Given the description of an element on the screen output the (x, y) to click on. 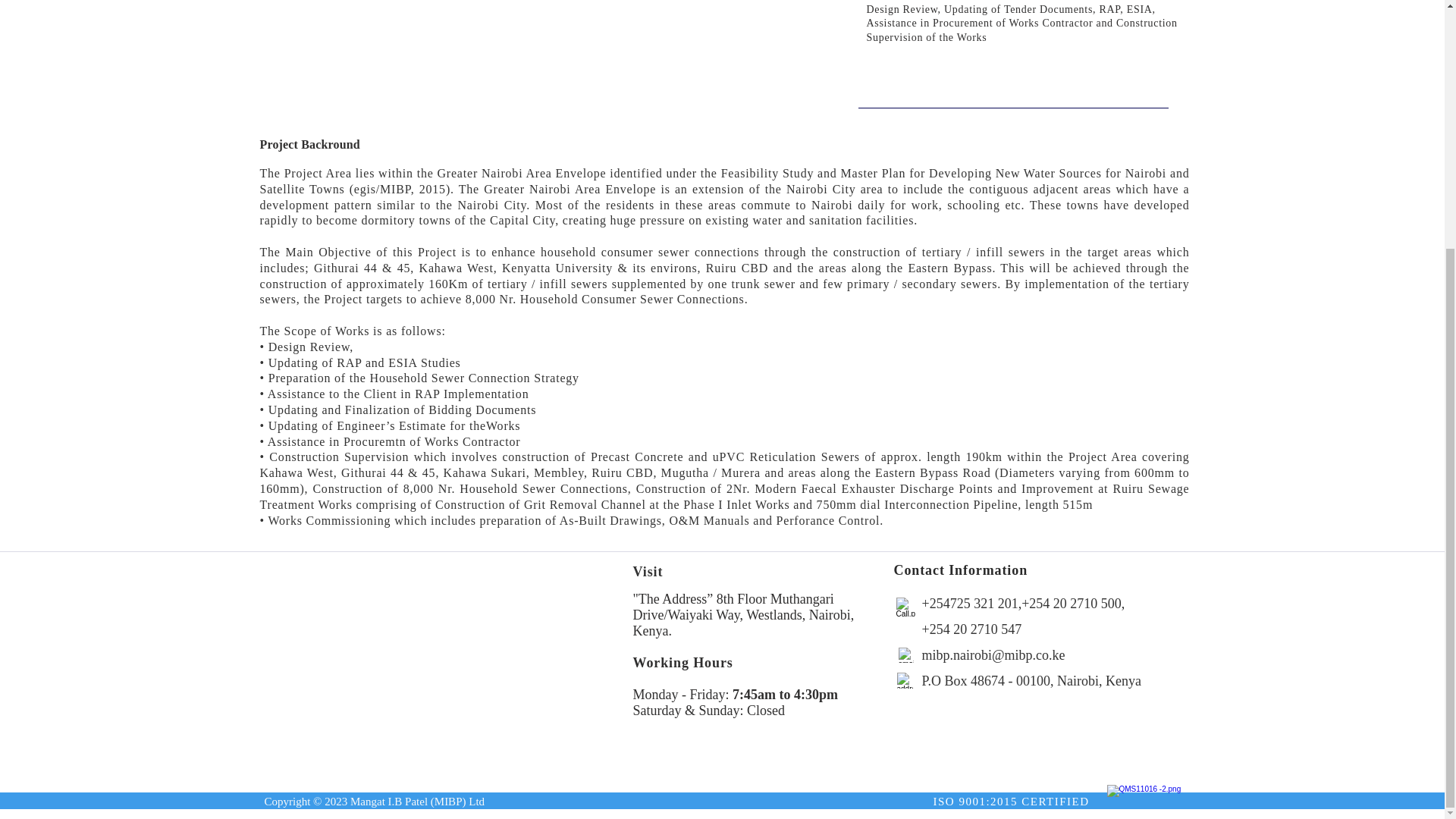
Contact Information (960, 570)
Kahawa Sukari (539, 52)
